Given the description of an element on the screen output the (x, y) to click on. 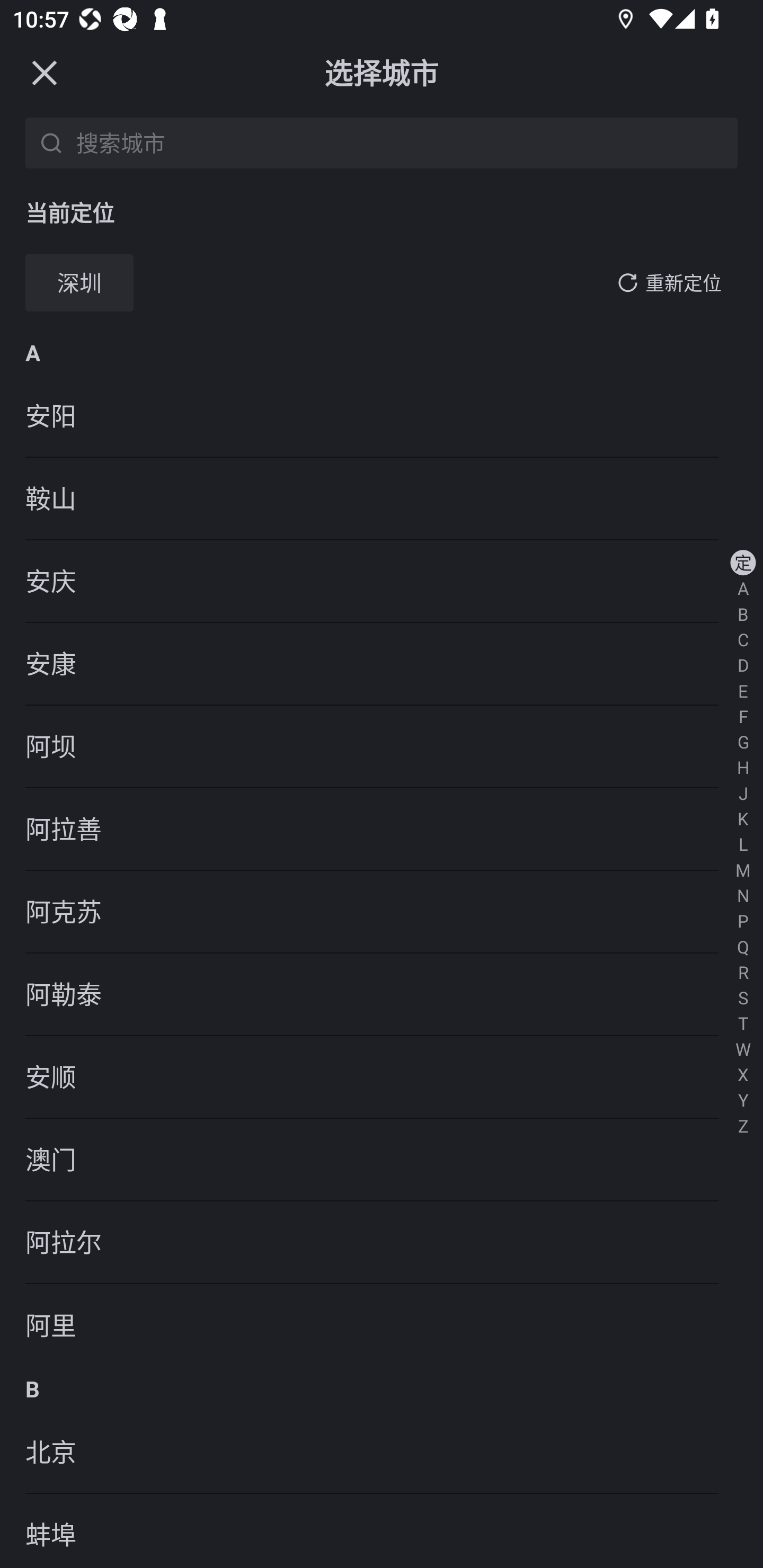
 (44, 71)
搜索城市 (403, 142)
深圳 (79, 283)
重新定位 (683, 282)
 (627, 282)
安阳 (381, 415)
鞍山 (381, 498)
安庆 (381, 581)
安康 (381, 663)
阿坝 (381, 746)
阿拉善 (381, 829)
阿克苏 (381, 911)
阿勒泰 (381, 994)
安顺 (381, 1077)
澳门 (381, 1160)
阿拉尔 (381, 1242)
阿里 (381, 1325)
北京 (381, 1452)
蚌埠 (381, 1531)
